Given the description of an element on the screen output the (x, y) to click on. 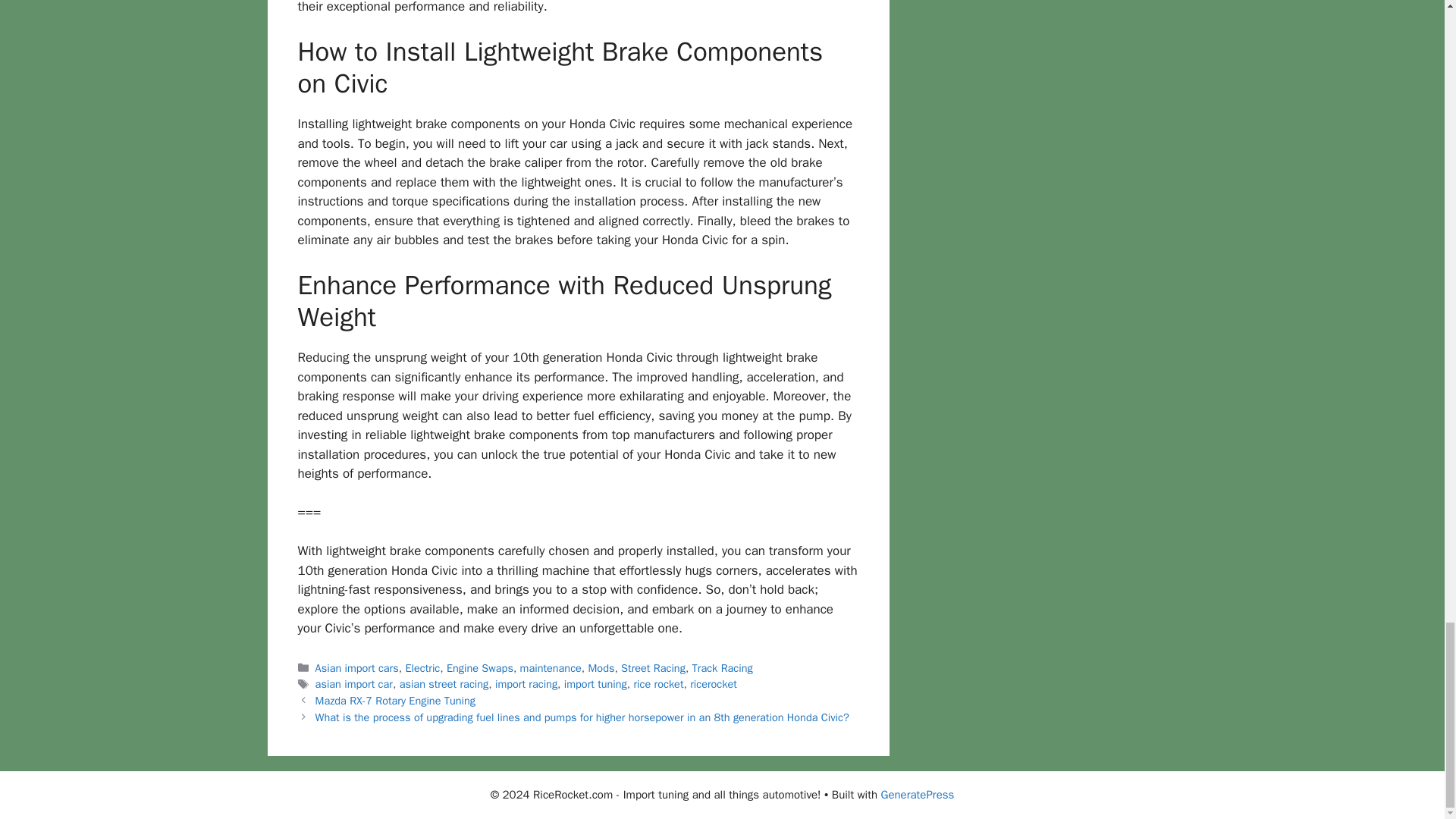
Electric (421, 667)
Asian import cars (356, 667)
